Given the description of an element on the screen output the (x, y) to click on. 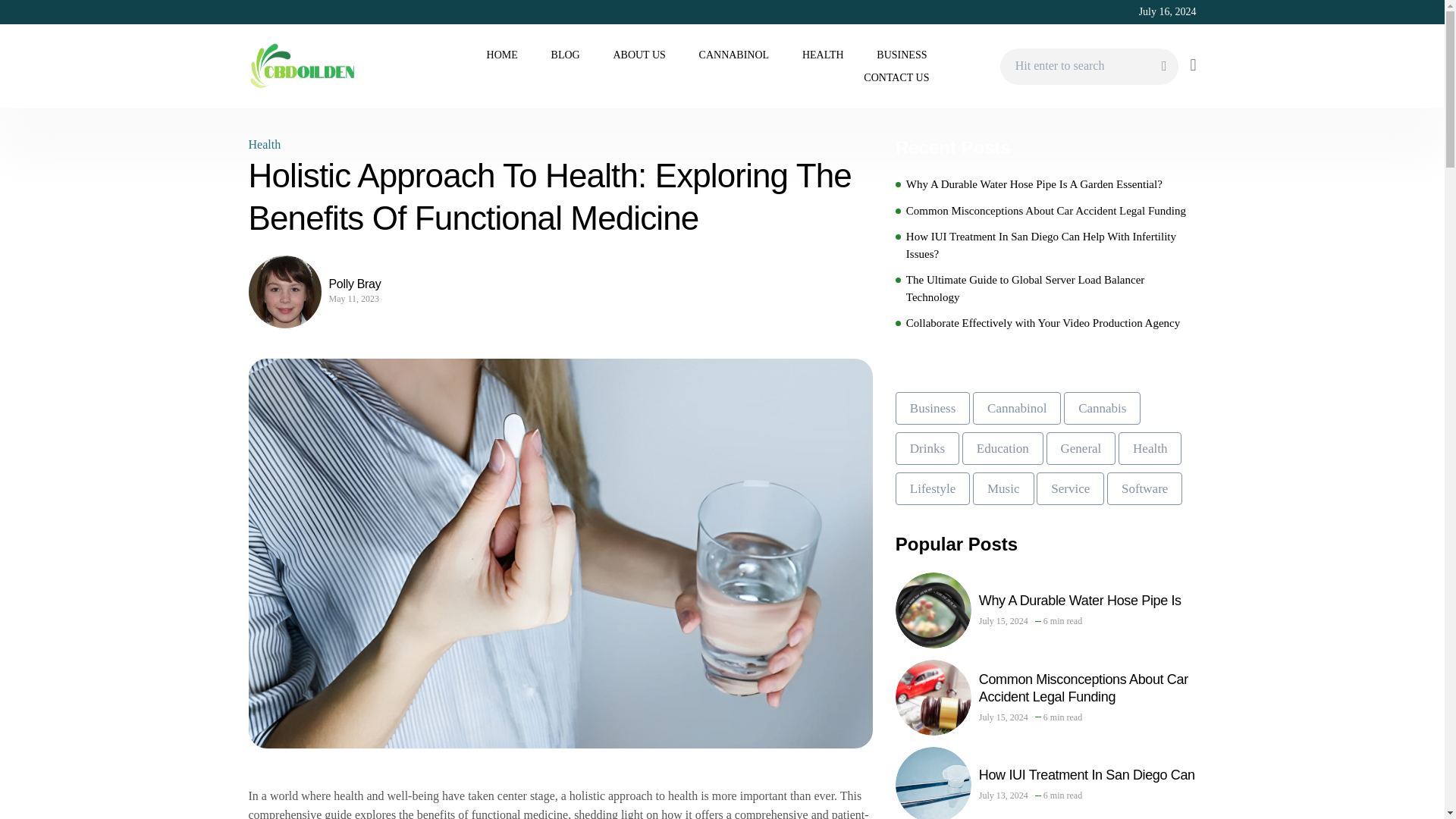
HEALTH (823, 55)
Business (932, 407)
Education (1002, 448)
Common Misconceptions About Car Accident Legal Funding (1045, 210)
Why A Durable Water Hose Pipe Is A Garden Essential? (1033, 184)
BUSINESS (901, 55)
The Ultimate Guide to Global Server Load Balancer Technology (1050, 288)
Drinks (927, 448)
Polly Bray (359, 284)
BLOG (565, 55)
Health (1149, 448)
HOME (501, 55)
Cannabis (1102, 407)
General (1081, 448)
ABOUT US (637, 55)
